Given the description of an element on the screen output the (x, y) to click on. 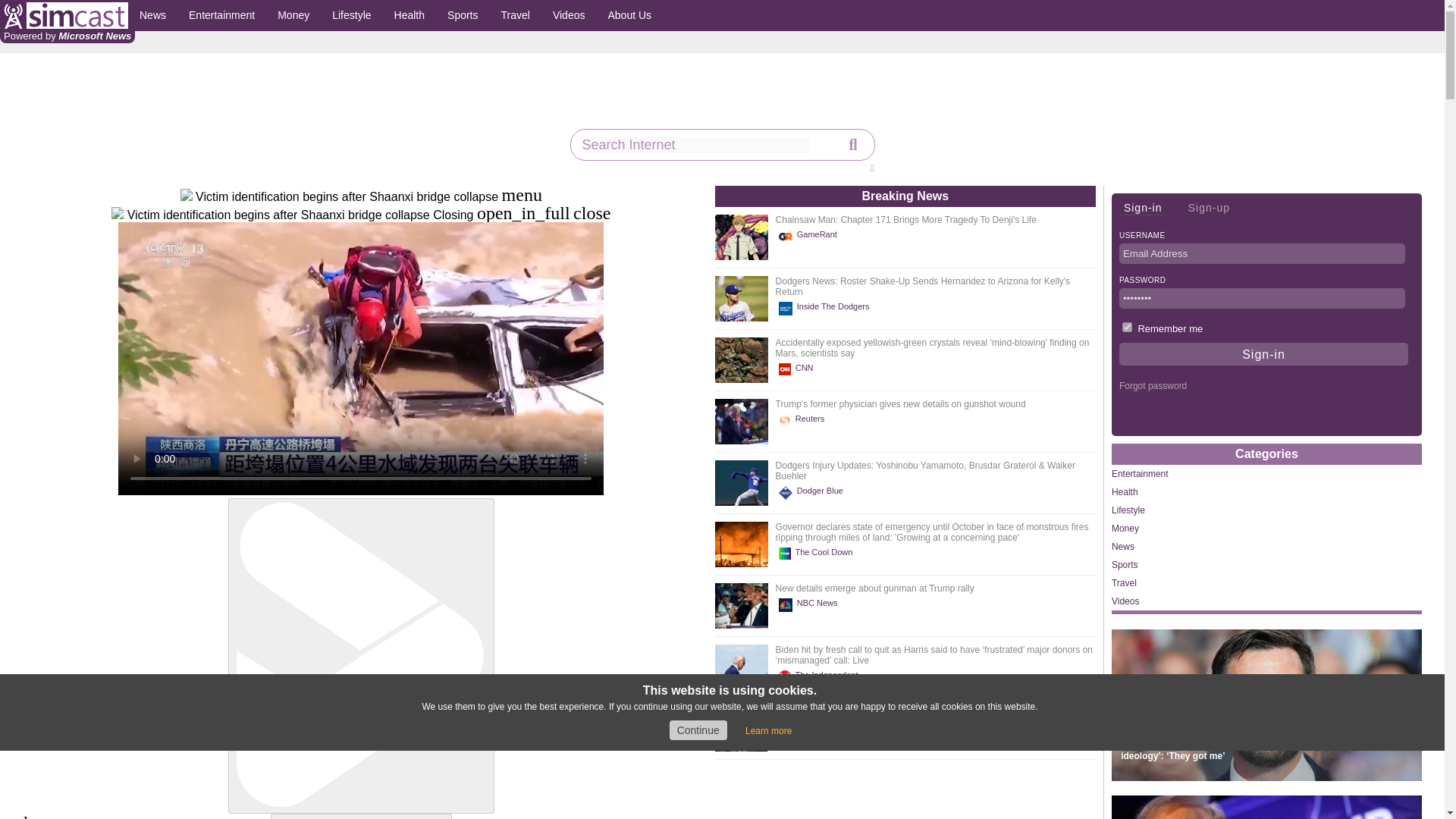
  Dodger Blue   (812, 492)
Lifestyle (350, 15)
Sign-in (1263, 354)
Money (293, 15)
Agree to GDPR (697, 730)
Sports (462, 15)
Videos (568, 15)
About Us (628, 15)
Entertainment (221, 15)
Travel (515, 15)
Search Internet (695, 145)
Trump's former physician gives new details on gunshot wound (901, 403)
  CNN   (798, 369)
Health (408, 15)
